Given the description of an element on the screen output the (x, y) to click on. 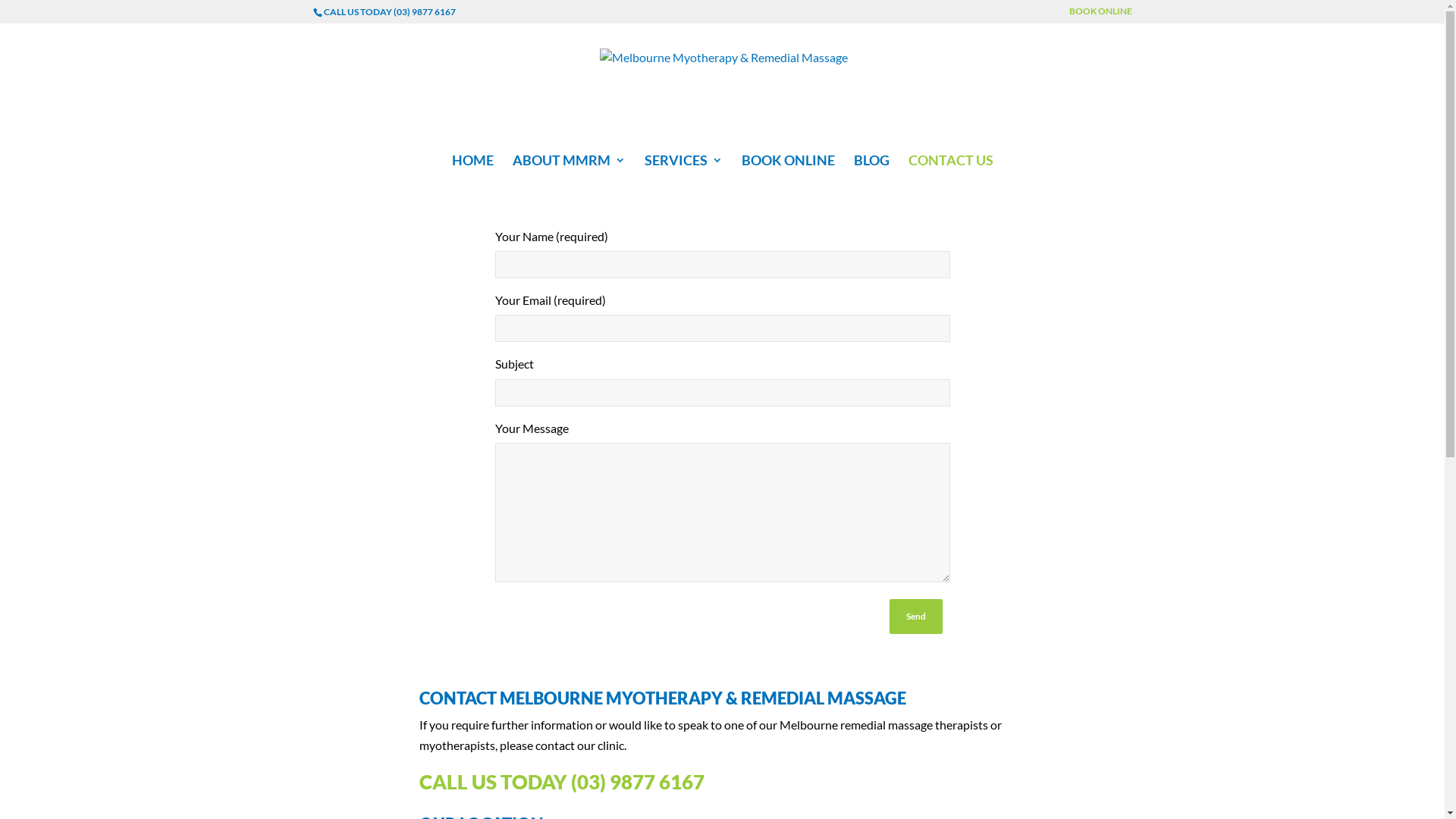
BOOK ONLINE Element type: text (1100, 14)
CALL US TODAY (03) 9877 6167 Element type: text (389, 11)
SERVICES Element type: text (683, 171)
HOME Element type: text (472, 171)
BLOG Element type: text (871, 171)
CONTACT US Element type: text (950, 171)
BOOK ONLINE Element type: text (787, 171)
(03) 9877 6167 Element type: text (636, 781)
ABOUT MMRM Element type: text (568, 171)
Send Element type: text (914, 616)
